Given the description of an element on the screen output the (x, y) to click on. 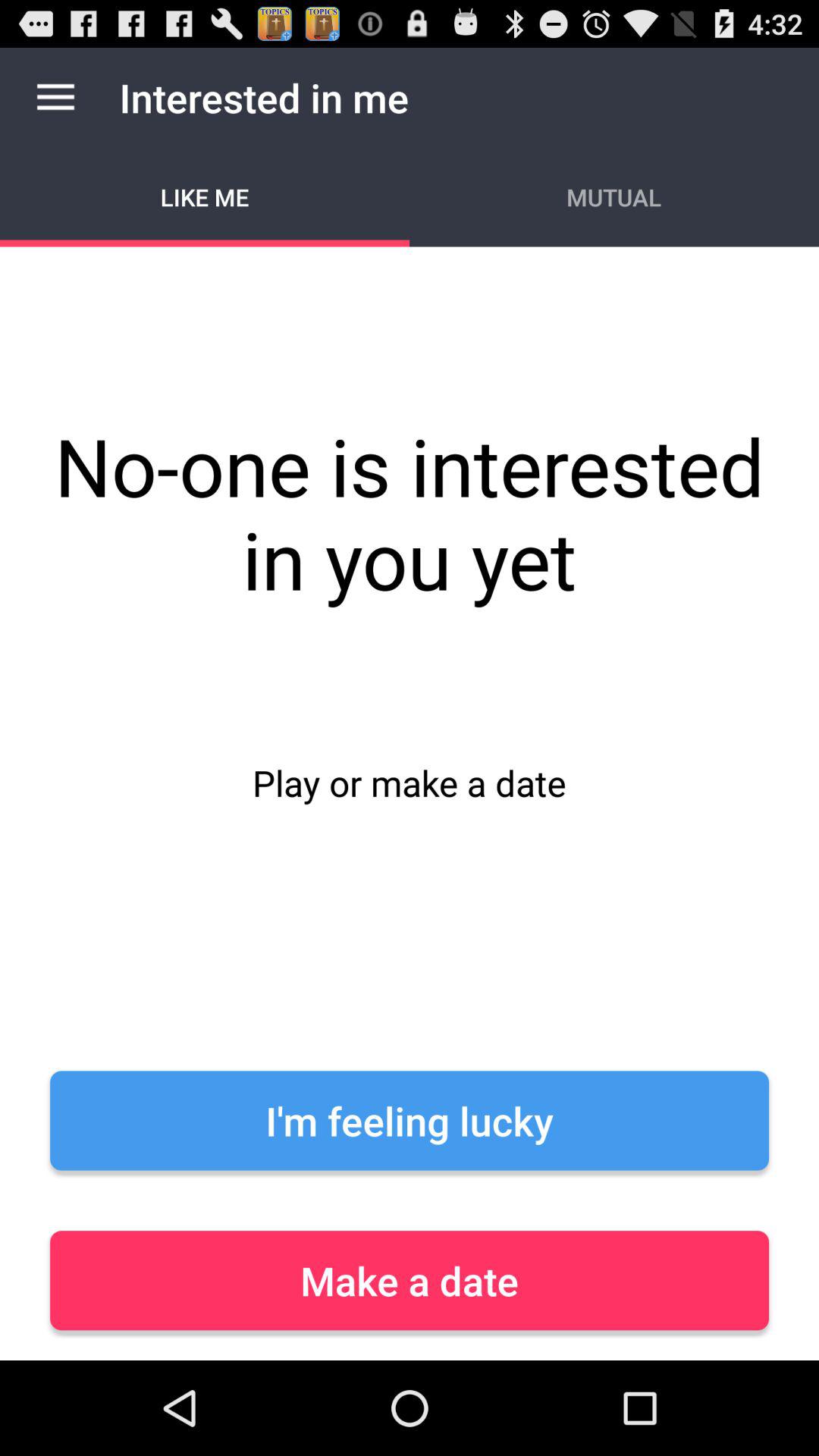
launch icon below the like me icon (409, 803)
